Given the description of an element on the screen output the (x, y) to click on. 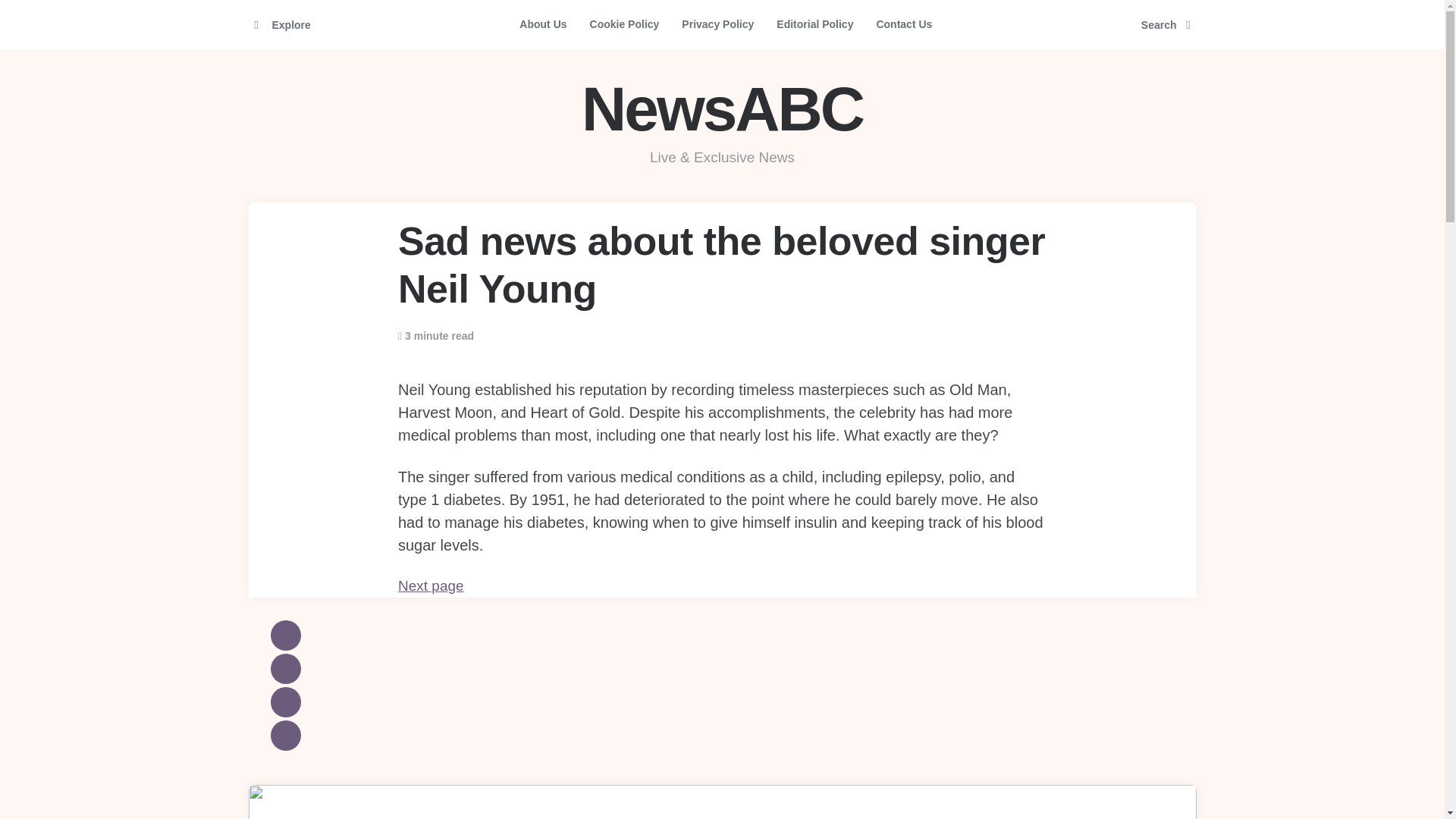
NewsABC (721, 109)
About Us (543, 24)
Privacy Policy (717, 24)
Contact Us (903, 24)
Cookie Policy (624, 24)
Next page (430, 585)
Editorial Policy (814, 24)
